Given the description of an element on the screen output the (x, y) to click on. 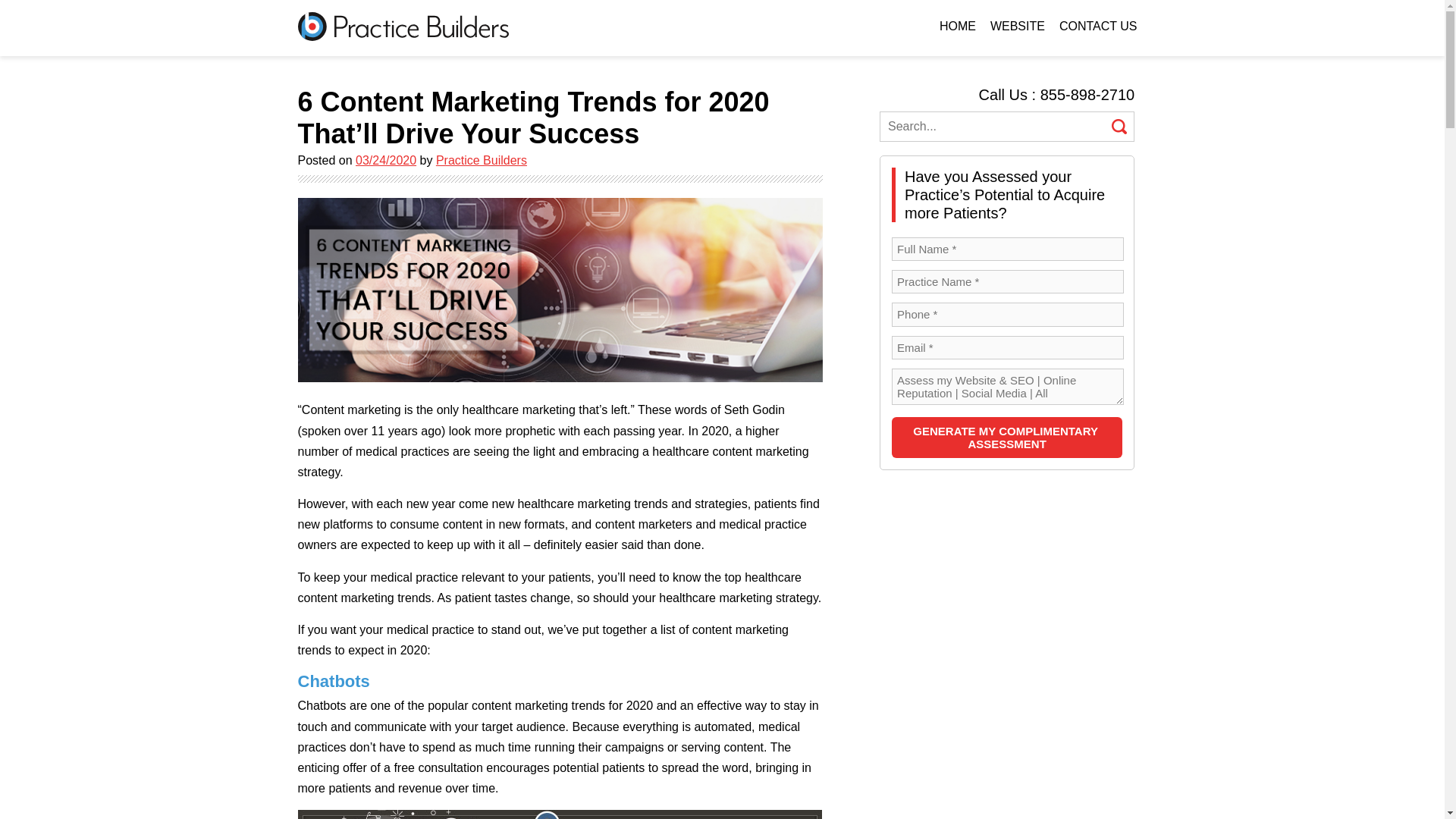
WEBSITE (1017, 26)
CONTACT US (1098, 26)
Practice Builders (481, 160)
GENERATE MY COMPLIMENTARY ASSESSMENT (1006, 436)
HOME (957, 26)
GENERATE MY COMPLIMENTARY ASSESSMENT (1006, 436)
